Given the description of an element on the screen output the (x, y) to click on. 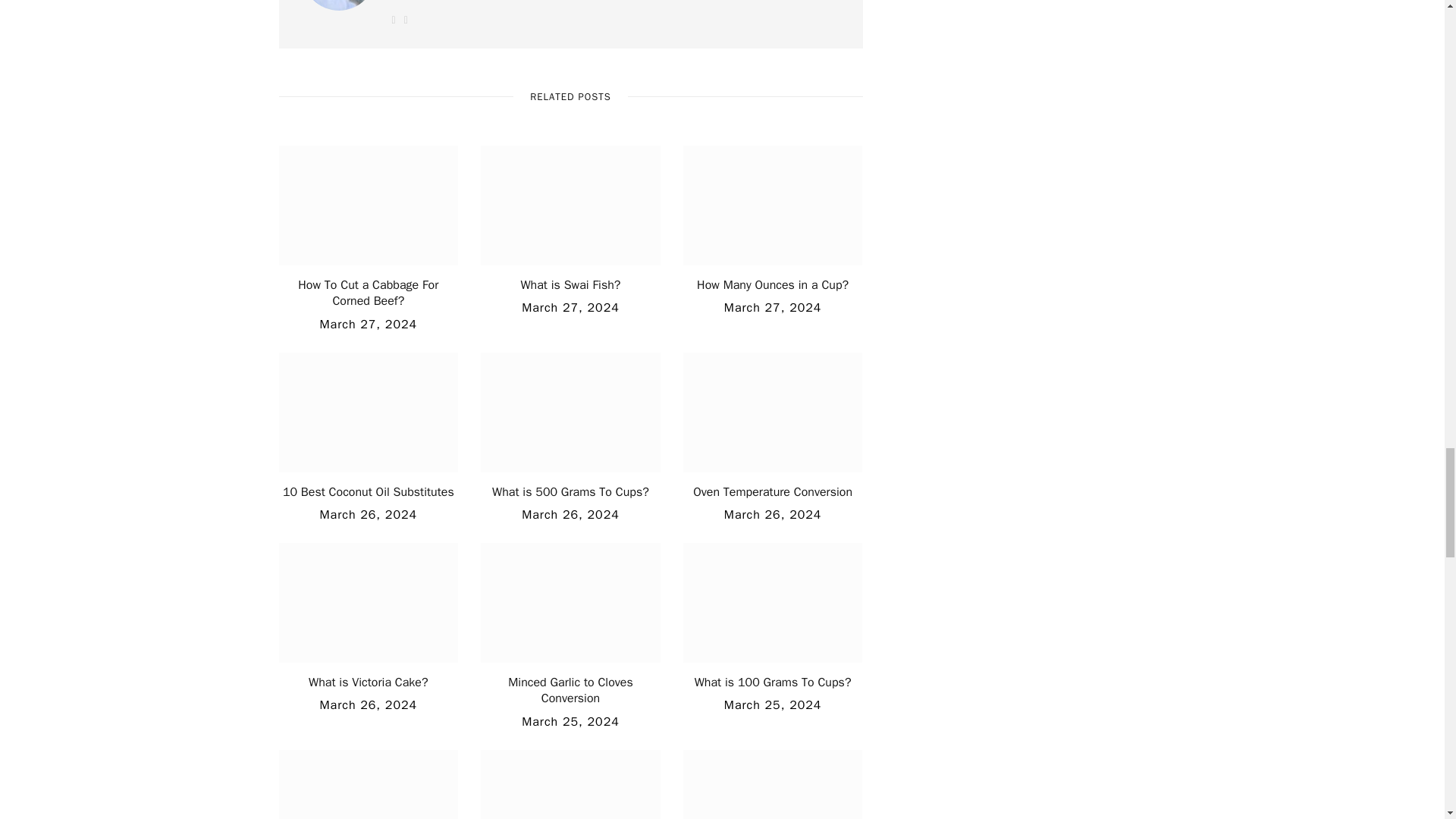
10 Best Coconut Oil Substitutes (368, 491)
How To Cut a Cabbage For Corned Beef? (368, 293)
March 27, 2024 (772, 307)
March 27, 2024 (368, 324)
March 26, 2024 (368, 514)
How Many Ounces in a Cup? (772, 284)
What is Swai Fish? (569, 284)
March 26, 2024 (570, 514)
March 27, 2024 (570, 307)
What is 500 Grams To Cups? (570, 491)
